Given the description of an element on the screen output the (x, y) to click on. 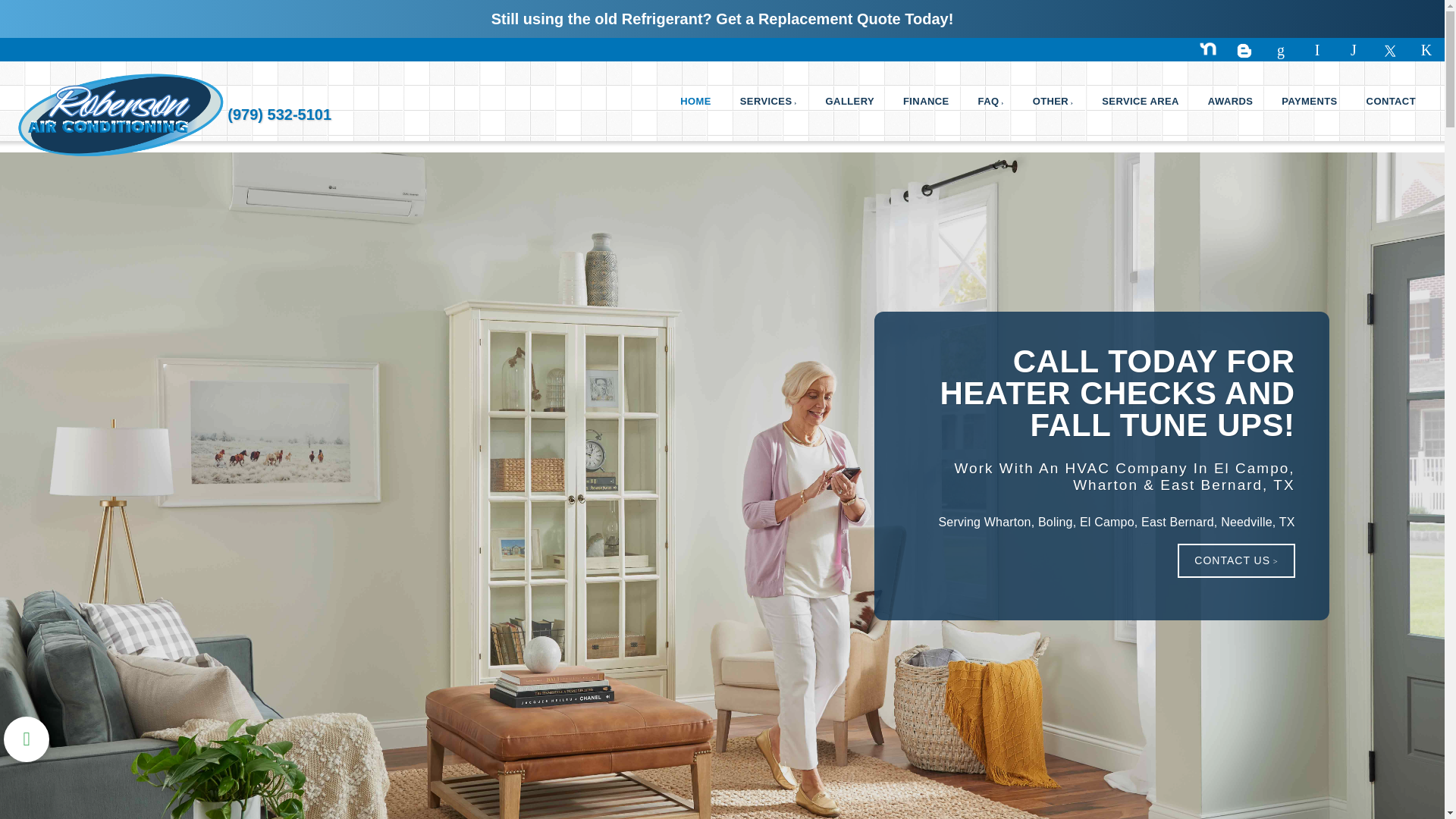
HOME (695, 101)
Google (1280, 49)
GALLERY (850, 101)
LinkedIn (1353, 49)
Instagram (1316, 49)
NextDoor (1207, 51)
Blogger (1243, 51)
Roberson Air Conditioning (120, 113)
FINANCE (925, 101)
Twitter (1389, 51)
